Given the description of an element on the screen output the (x, y) to click on. 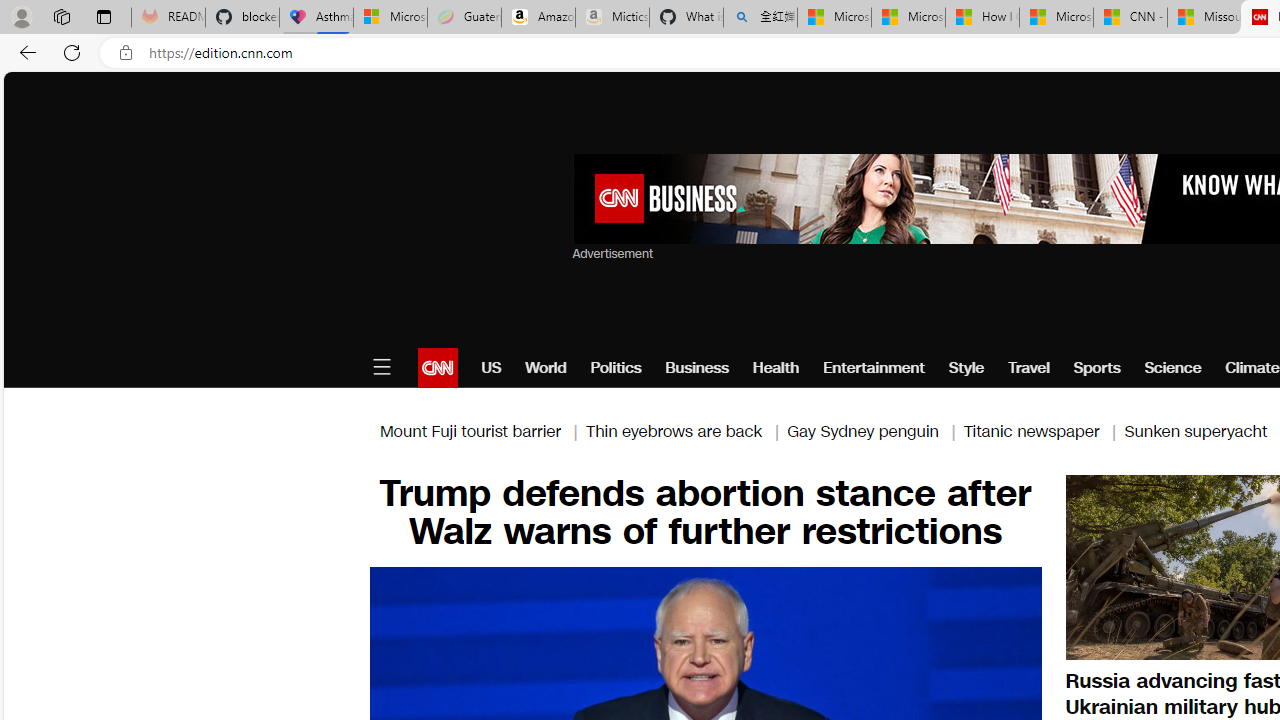
CNN - MSN (1130, 17)
Business (697, 367)
Gay Sydney penguin | (875, 430)
Climate (1252, 367)
Mount Fuji tourist barrier | (482, 430)
Style (966, 367)
